Given the description of an element on the screen output the (x, y) to click on. 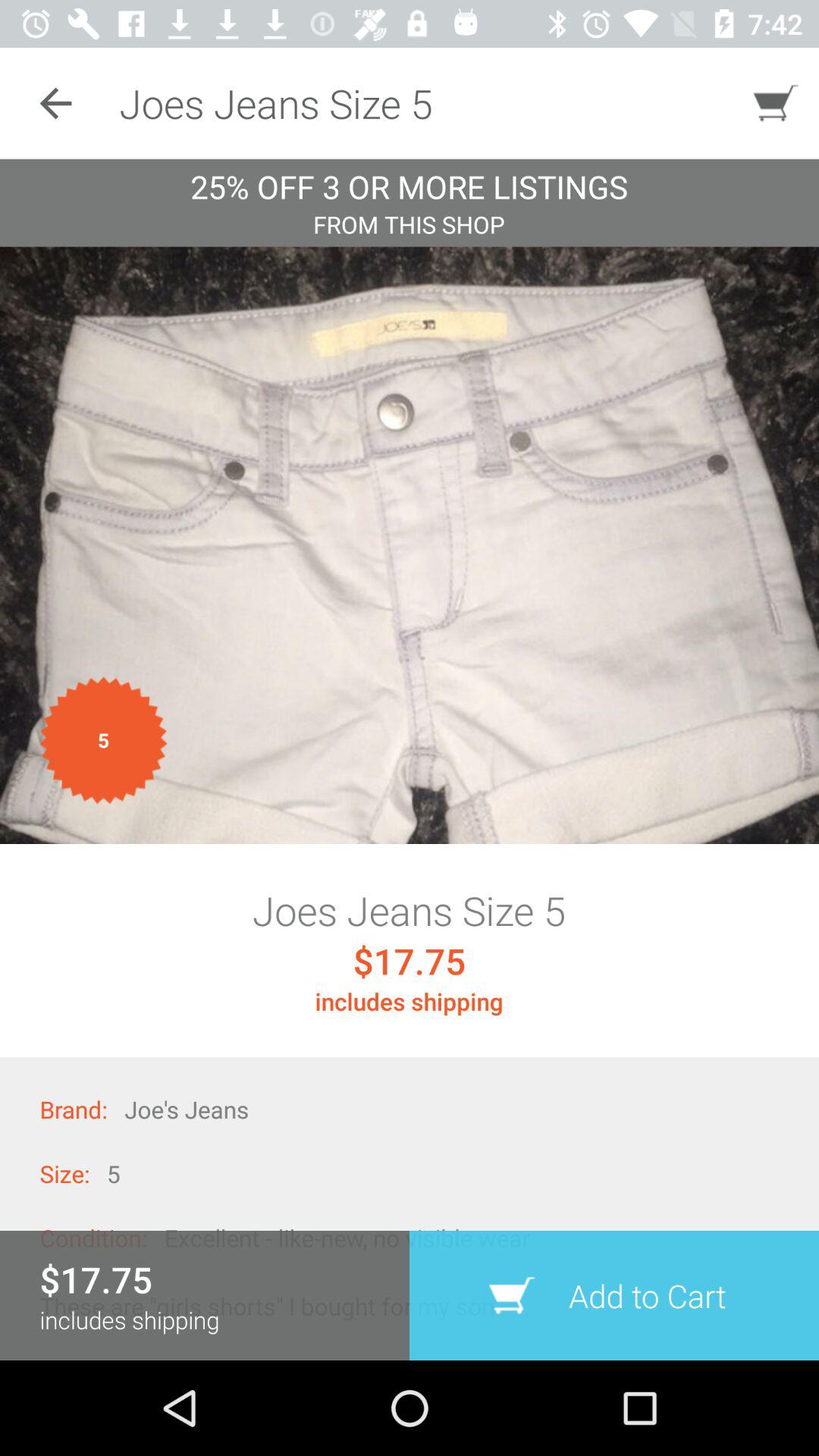
view images (409, 545)
